Given the description of an element on the screen output the (x, y) to click on. 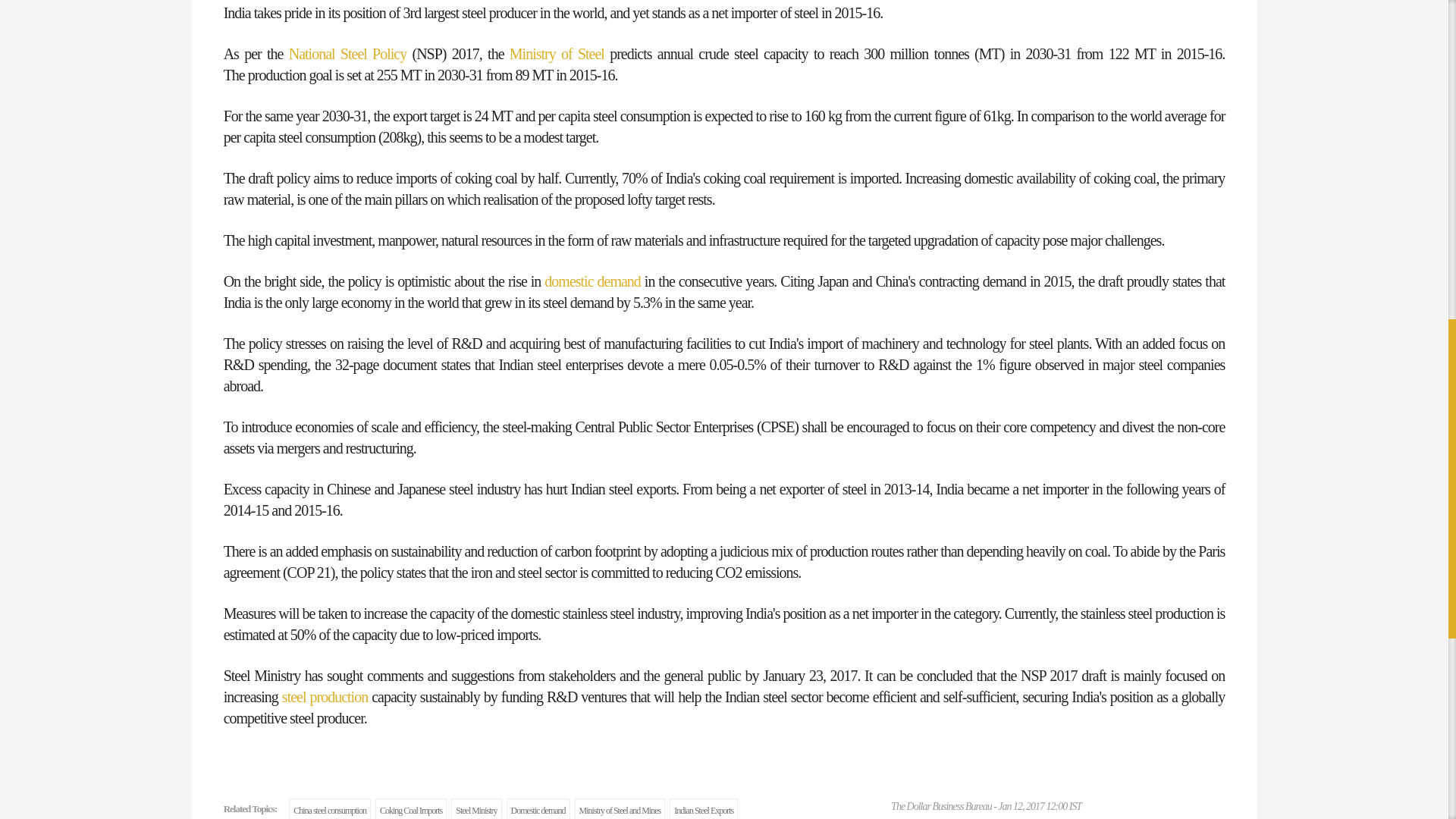
Coking Coal Imports (410, 808)
domestic demand (592, 280)
Ministry of Steel (556, 53)
Indian Steel Exports (703, 808)
Ministry of Steel and Mines (620, 808)
China steel consumption (329, 808)
steel production (325, 696)
Domestic demand (538, 808)
National Steel Policy (347, 53)
Steel Ministry (475, 808)
